Given the description of an element on the screen output the (x, y) to click on. 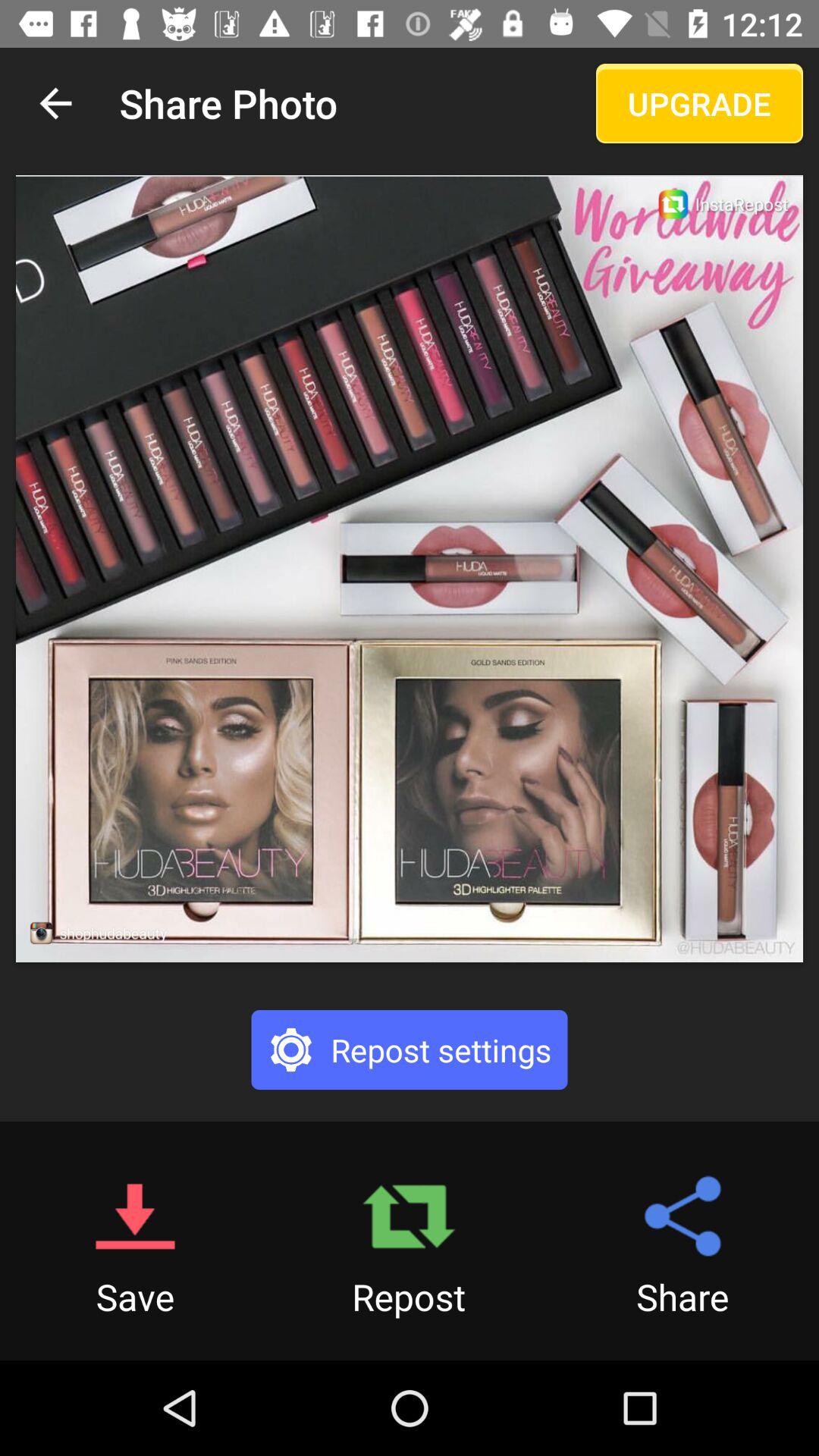
go to previous screen (55, 103)
